Given the description of an element on the screen output the (x, y) to click on. 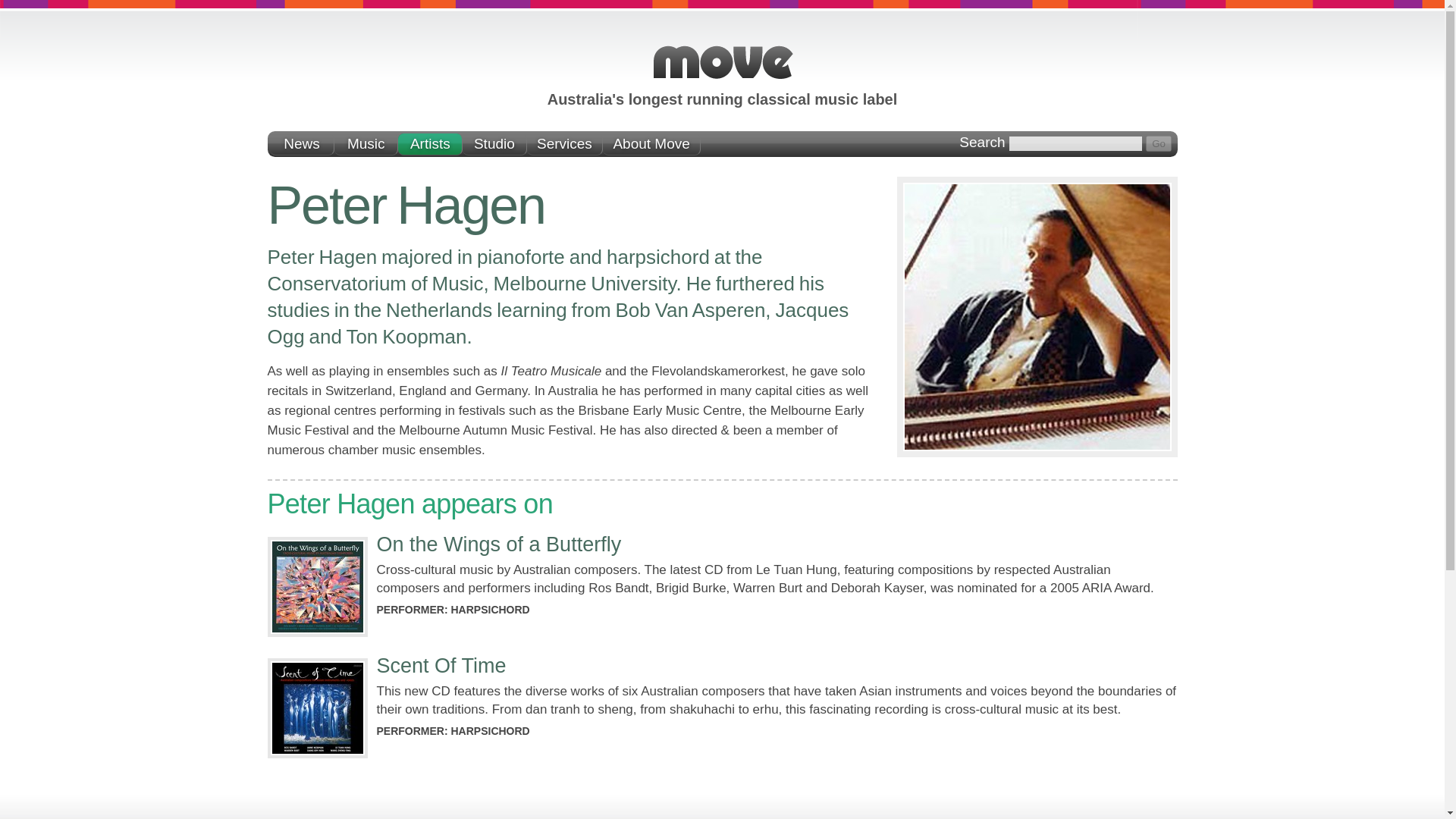
Artists (430, 144)
Go (1158, 143)
Scent Of Time (440, 665)
Music (366, 144)
Studio (495, 144)
About Move (651, 144)
On the Wings of a Butterfly (498, 544)
Go (1158, 143)
News (301, 144)
Services (564, 144)
